Given the description of an element on the screen output the (x, y) to click on. 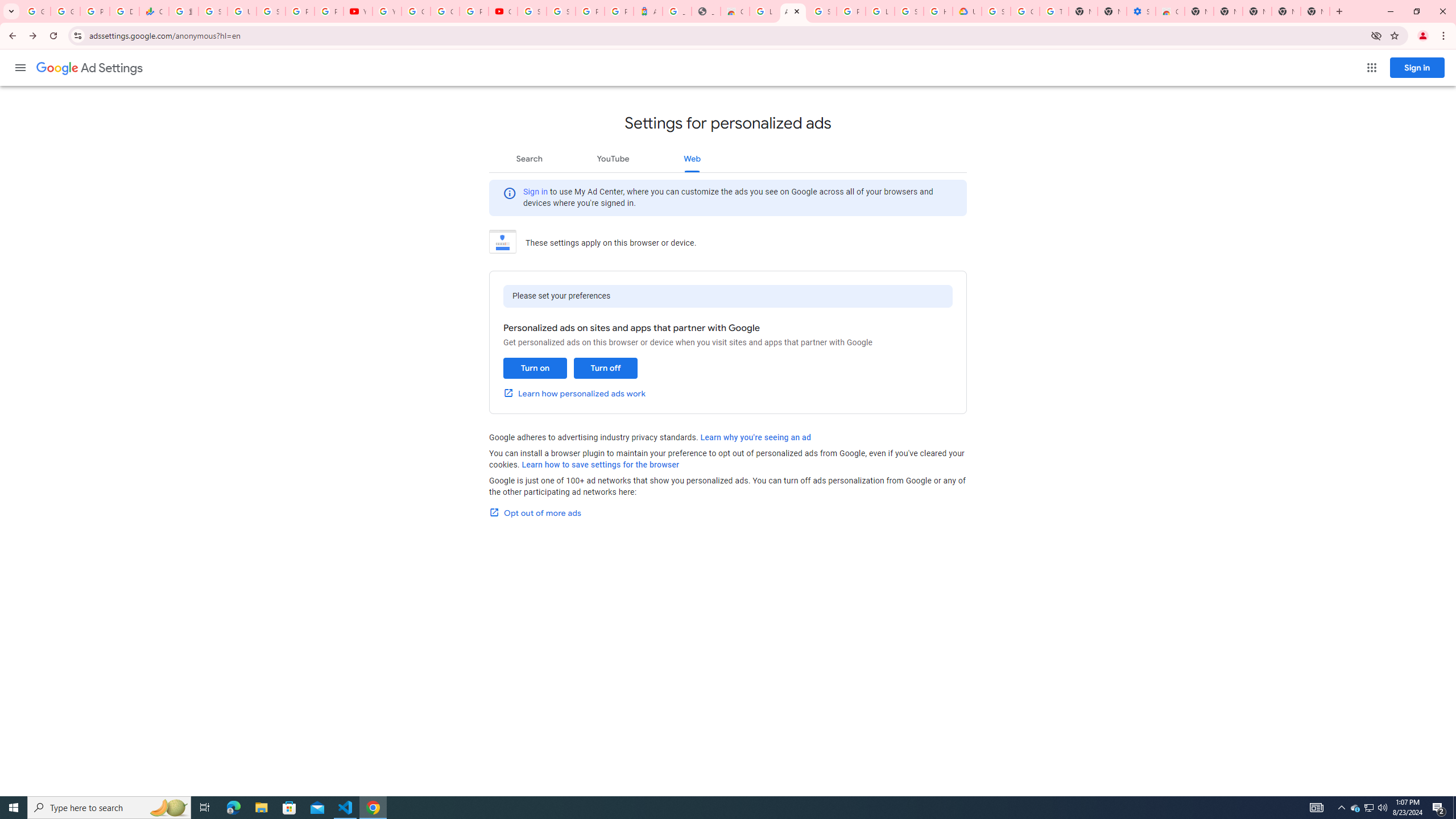
Learn why you're seeing an ad (755, 437)
Web (692, 157)
New Tab (1315, 11)
Main menu (20, 67)
Google Workspace Admin Community (35, 11)
Privacy Checkup (327, 11)
Turn ads based on your interests on. (534, 367)
Atour Hotel - Google hotels (648, 11)
YouTube (386, 11)
